Given the description of an element on the screen output the (x, y) to click on. 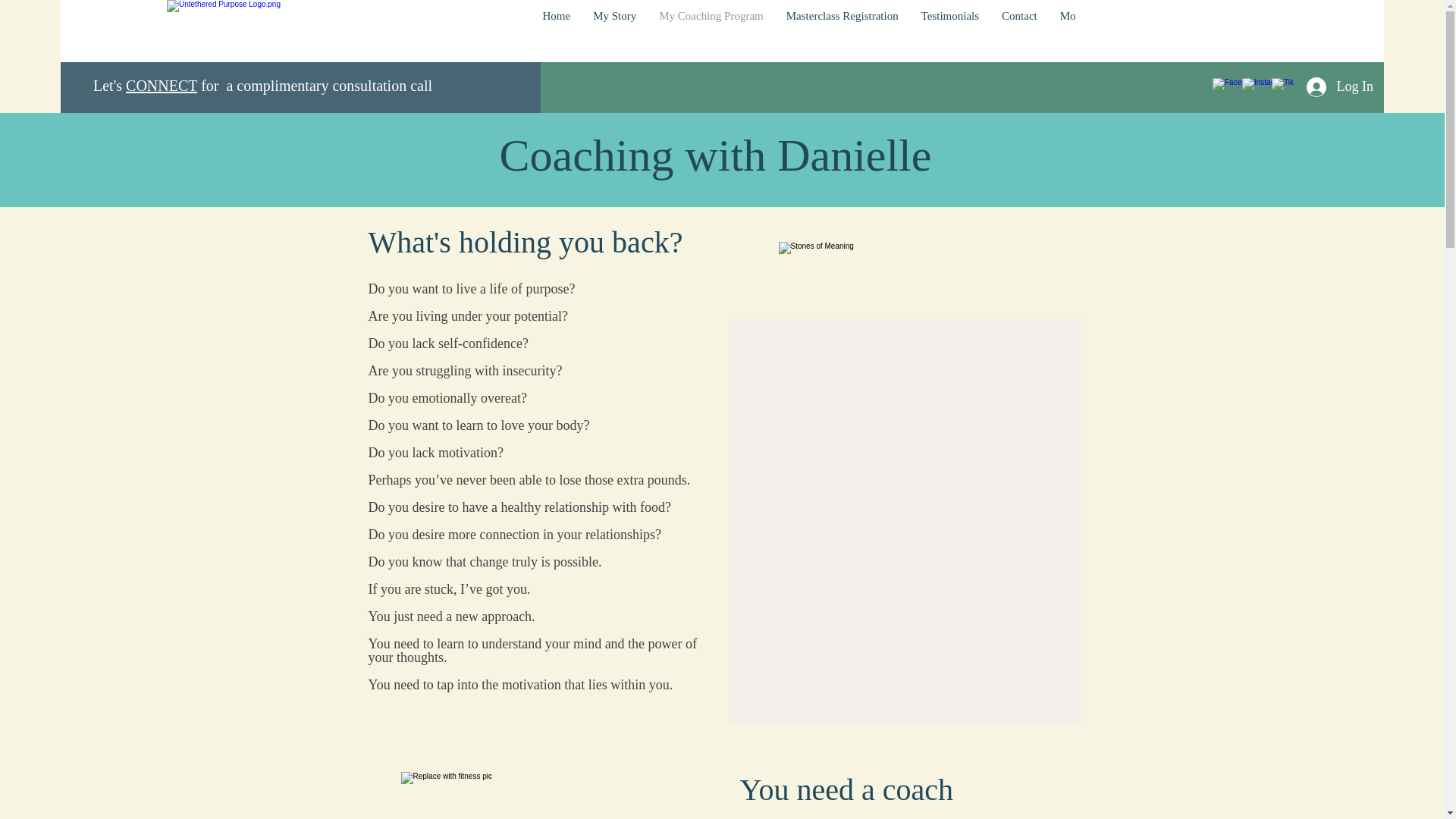
Contact (1019, 29)
CONNECT (160, 85)
My Coaching Program (710, 29)
Testimonials (950, 29)
Log In (1339, 86)
My Story (613, 29)
Home (555, 29)
Masterclass Registration (842, 29)
